Given the description of an element on the screen output the (x, y) to click on. 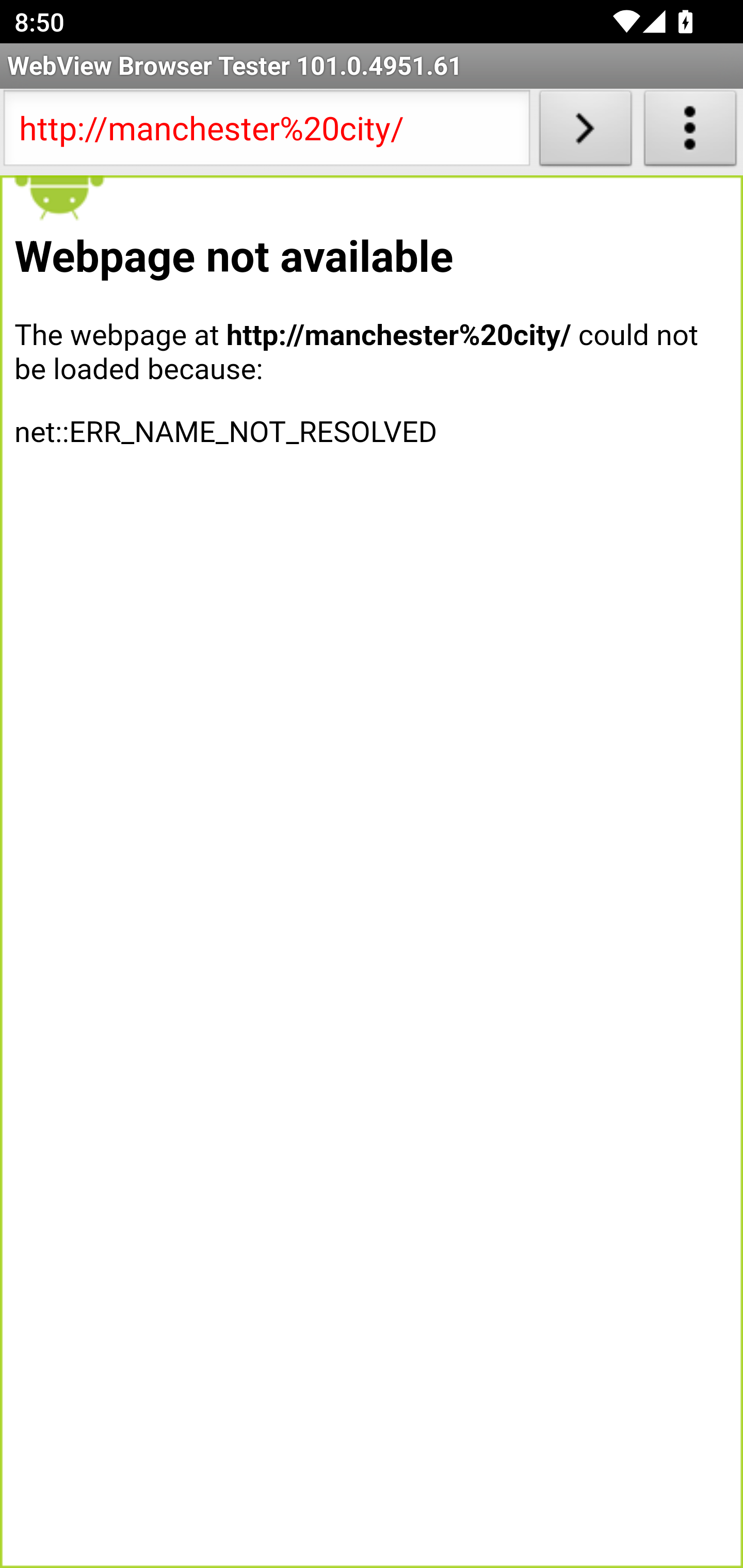
http://manchester%20city/ (266, 132)
Load URL (585, 132)
About WebView (690, 132)
